Given the description of an element on the screen output the (x, y) to click on. 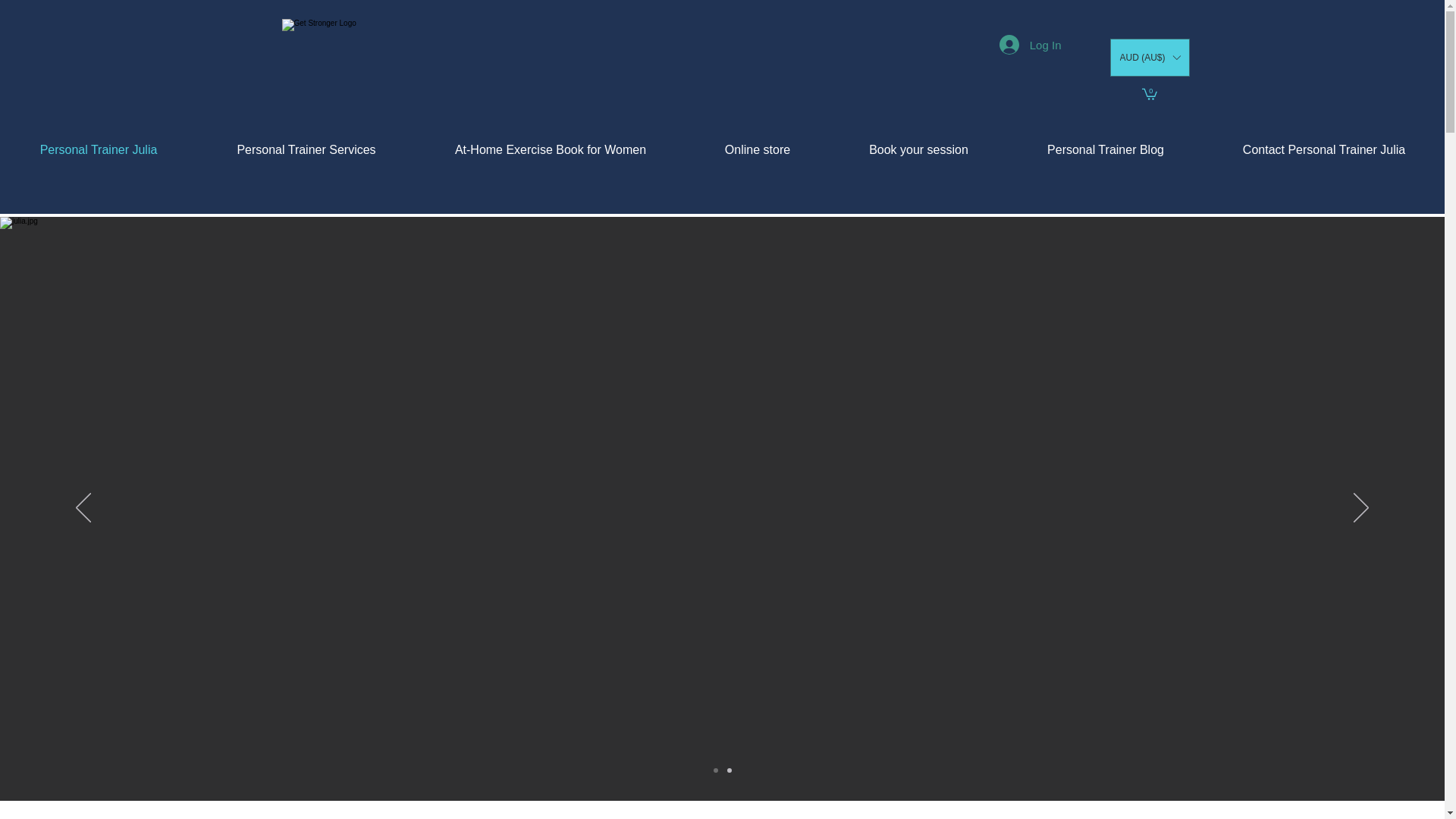
0 Element type: text (1149, 93)
Personal Trainer Blog Element type: text (1105, 149)
Book your session Element type: text (918, 149)
AUD (AU$) Element type: text (1149, 57)
Personal Trainer Julia Element type: text (98, 149)
Online store Element type: text (757, 149)
Personal Trainer Services Element type: text (306, 149)
At-Home Exercise Book for Women Element type: text (550, 149)
Contact Personal Trainer Julia Element type: text (1323, 149)
Log In Element type: text (1030, 44)
